Given the description of an element on the screen output the (x, y) to click on. 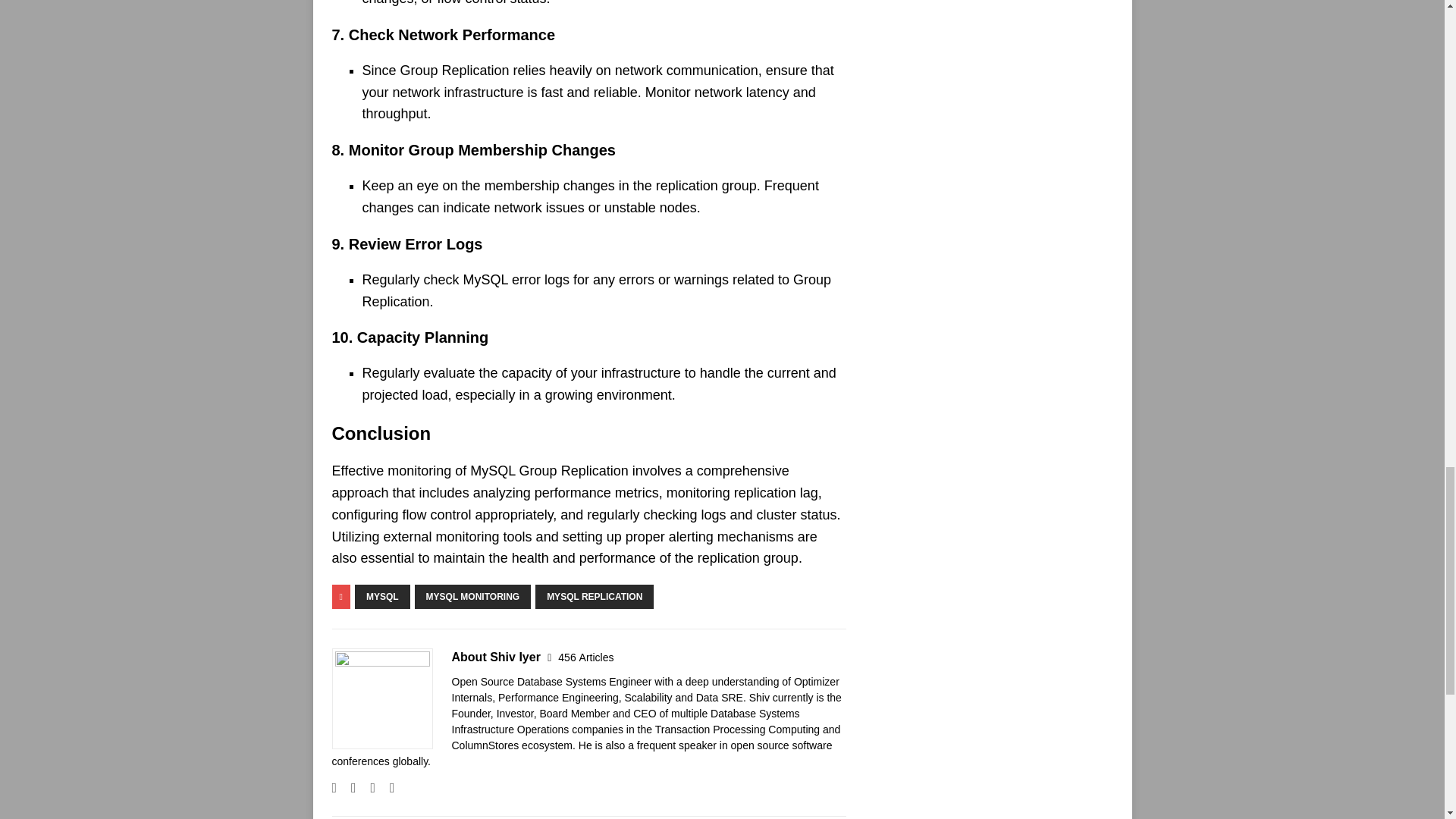
Follow Shiv Iyer on Twitter (366, 787)
More articles written by Shiv Iyer' (584, 657)
Follow Shiv Iyer on Facebook (347, 787)
Follow Shiv Iyer on LinkedIn (386, 787)
